Given the description of an element on the screen output the (x, y) to click on. 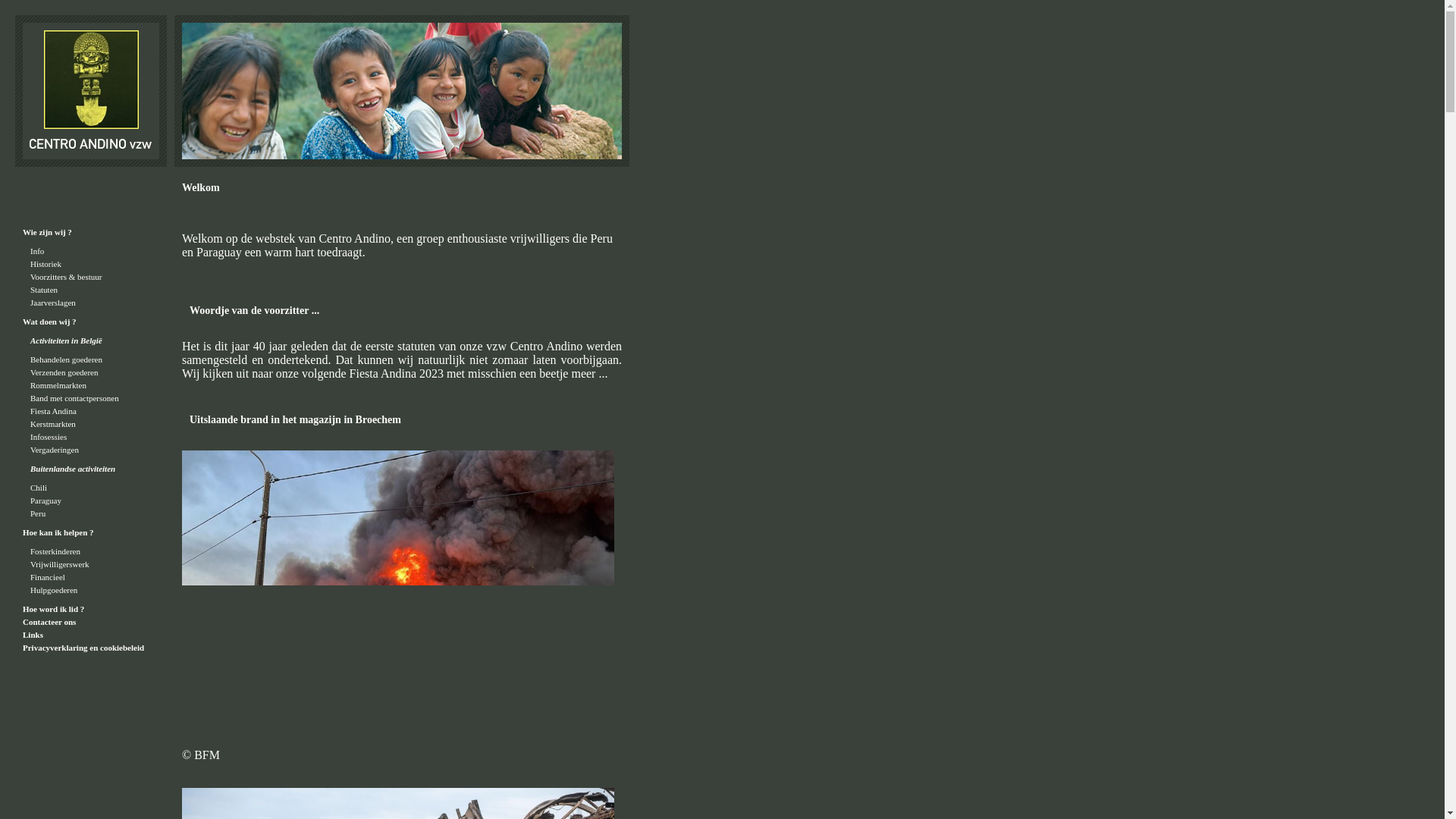
Contacteer ons Element type: text (48, 621)
Fiesta Andina Element type: text (53, 410)
Rommelmarkten Element type: text (58, 384)
Kerstmarkten Element type: text (52, 423)
Info Element type: text (36, 250)
Financieel Element type: text (47, 576)
Infosessies Element type: text (48, 436)
Fosterkinderen Element type: text (55, 550)
Behandelen goederen Element type: text (66, 359)
Peru Element type: text (37, 512)
Wat doen wij ? Element type: text (49, 321)
Jaarverslagen Element type: text (52, 302)
Privacyverklaring en cookiebeleid Element type: text (83, 647)
Hulpgoederen Element type: text (53, 589)
Band met contactpersonen Element type: text (74, 397)
Chili Element type: text (38, 487)
Historiek Element type: text (45, 263)
Hoe word ik lid ? Element type: text (53, 608)
Vrijwilligerswerk Element type: text (59, 563)
Voorzitters & bestuur Element type: text (66, 276)
Statuten Element type: text (43, 289)
Verzenden goederen Element type: text (63, 371)
Links Element type: text (32, 634)
Paraguay Element type: text (45, 500)
Vergaderingen Element type: text (54, 449)
